Given the description of an element on the screen output the (x, y) to click on. 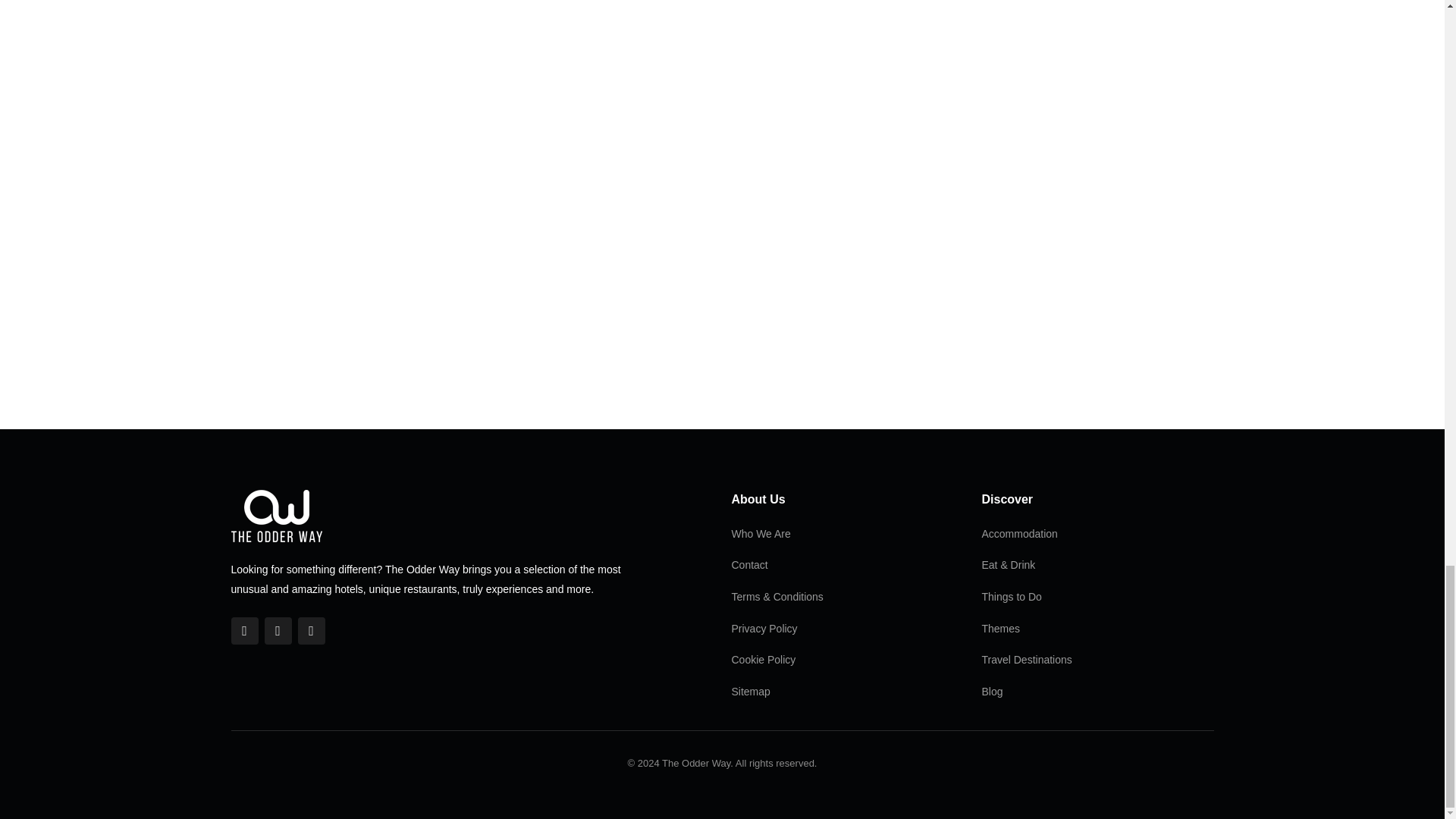
Facebook (243, 630)
Instagram (277, 630)
YouTube (310, 630)
